Given the description of an element on the screen output the (x, y) to click on. 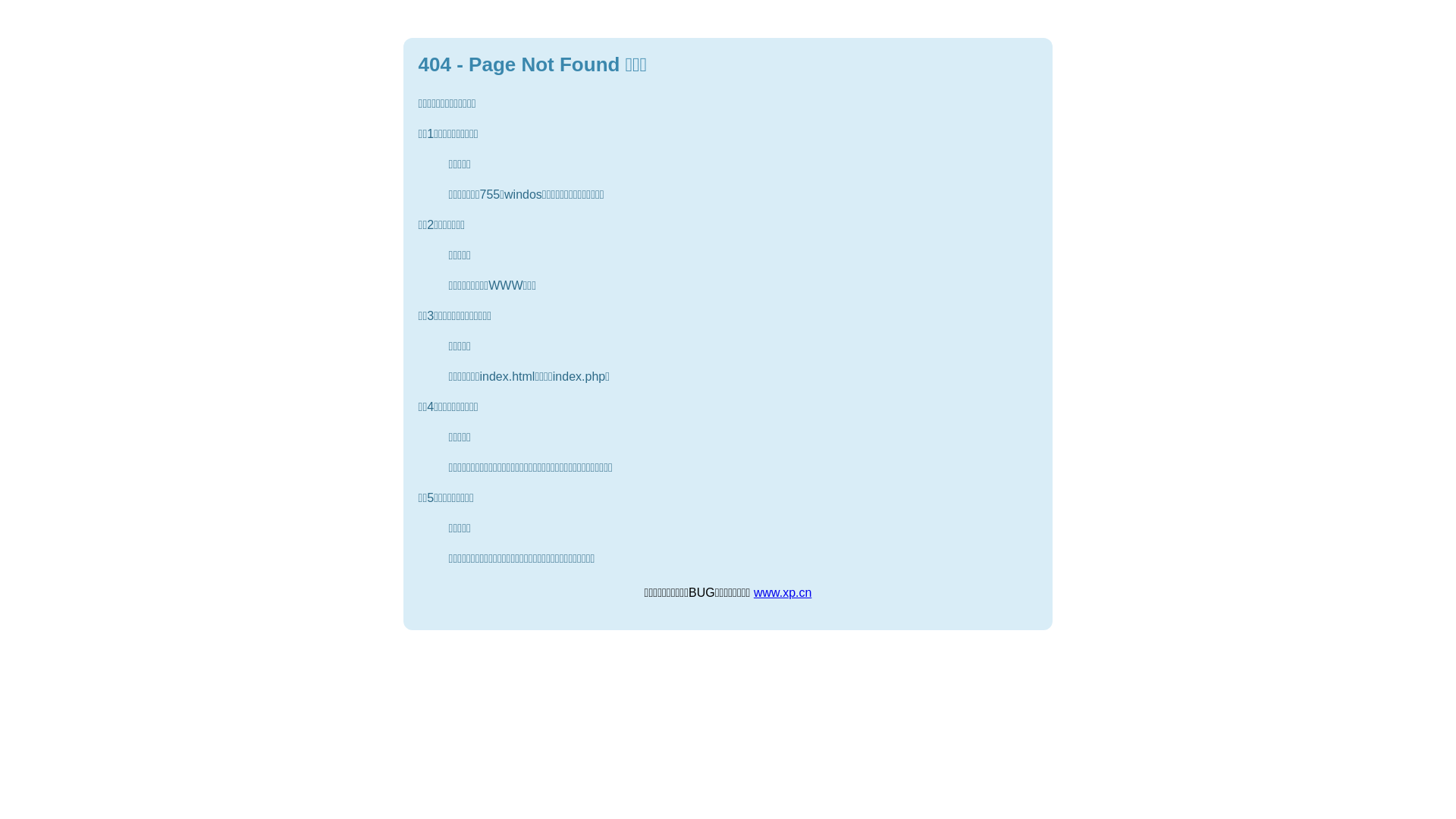
www.xp.cn Element type: text (782, 592)
